Given the description of an element on the screen output the (x, y) to click on. 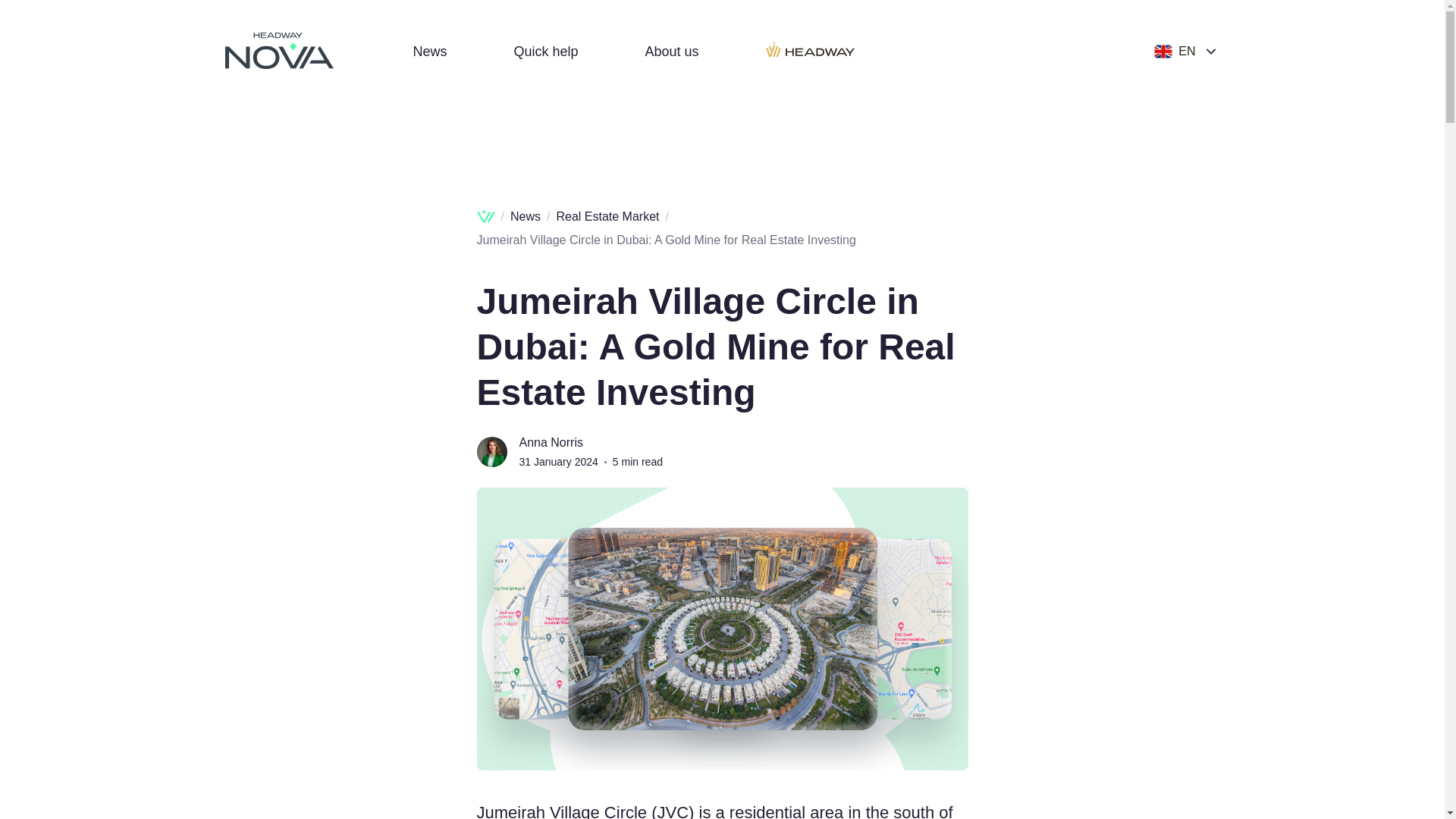
News (525, 215)
Quick help (545, 51)
Real Estate Market (607, 215)
About us (671, 51)
News (429, 51)
Home (485, 216)
Redirect (810, 51)
